Given the description of an element on the screen output the (x, y) to click on. 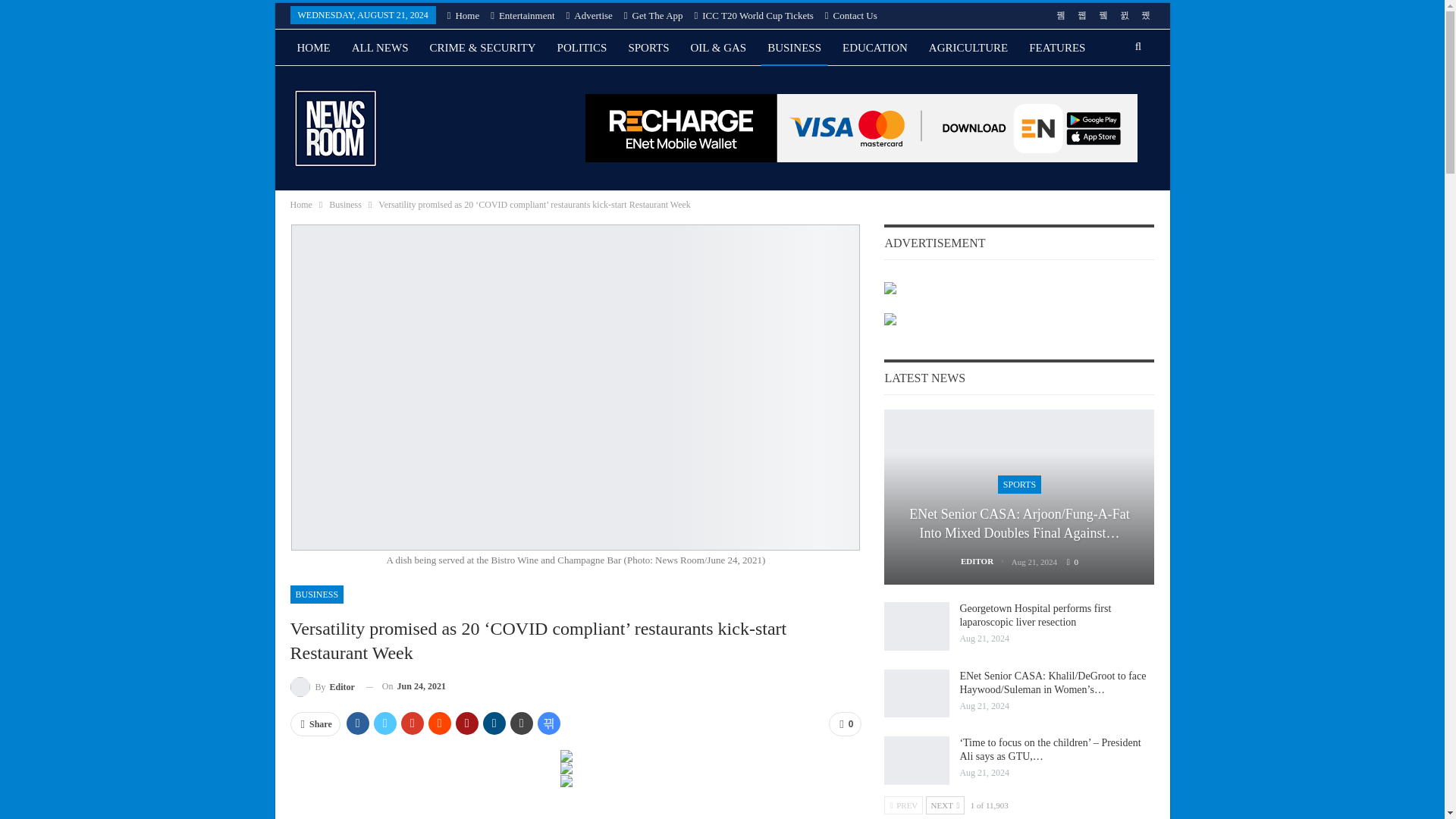
FEATURES (1057, 47)
Get The App (653, 15)
LETTERS (386, 84)
Home (463, 15)
Business (345, 204)
BUSINESS (316, 594)
SPORTS (648, 47)
POLITICS (582, 47)
HEALTH (318, 84)
AGRICULTURE (967, 47)
